Given the description of an element on the screen output the (x, y) to click on. 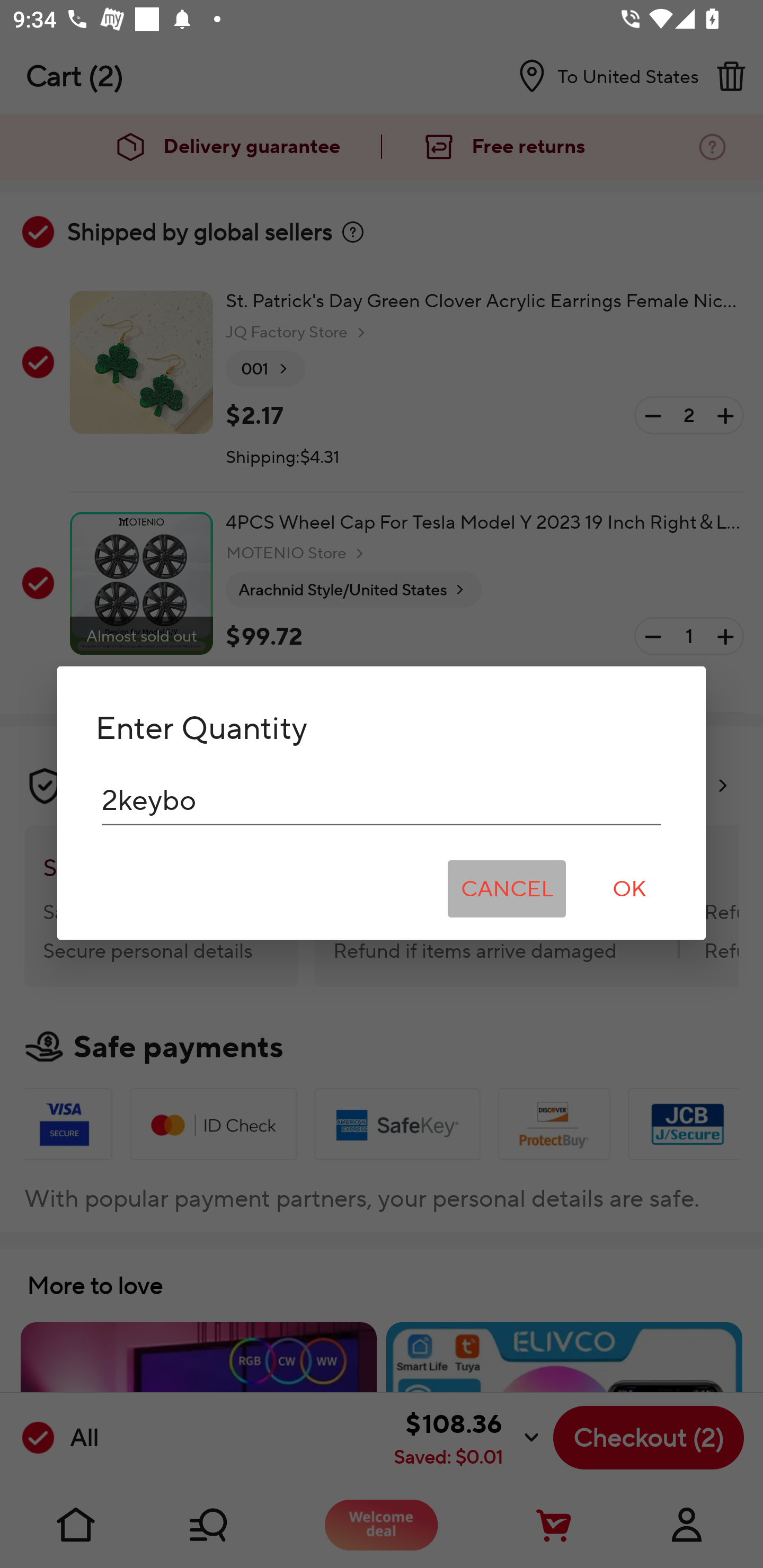
2keybo (381, 800)
CANCEL (506, 888)
OK (629, 888)
